Given the description of an element on the screen output the (x, y) to click on. 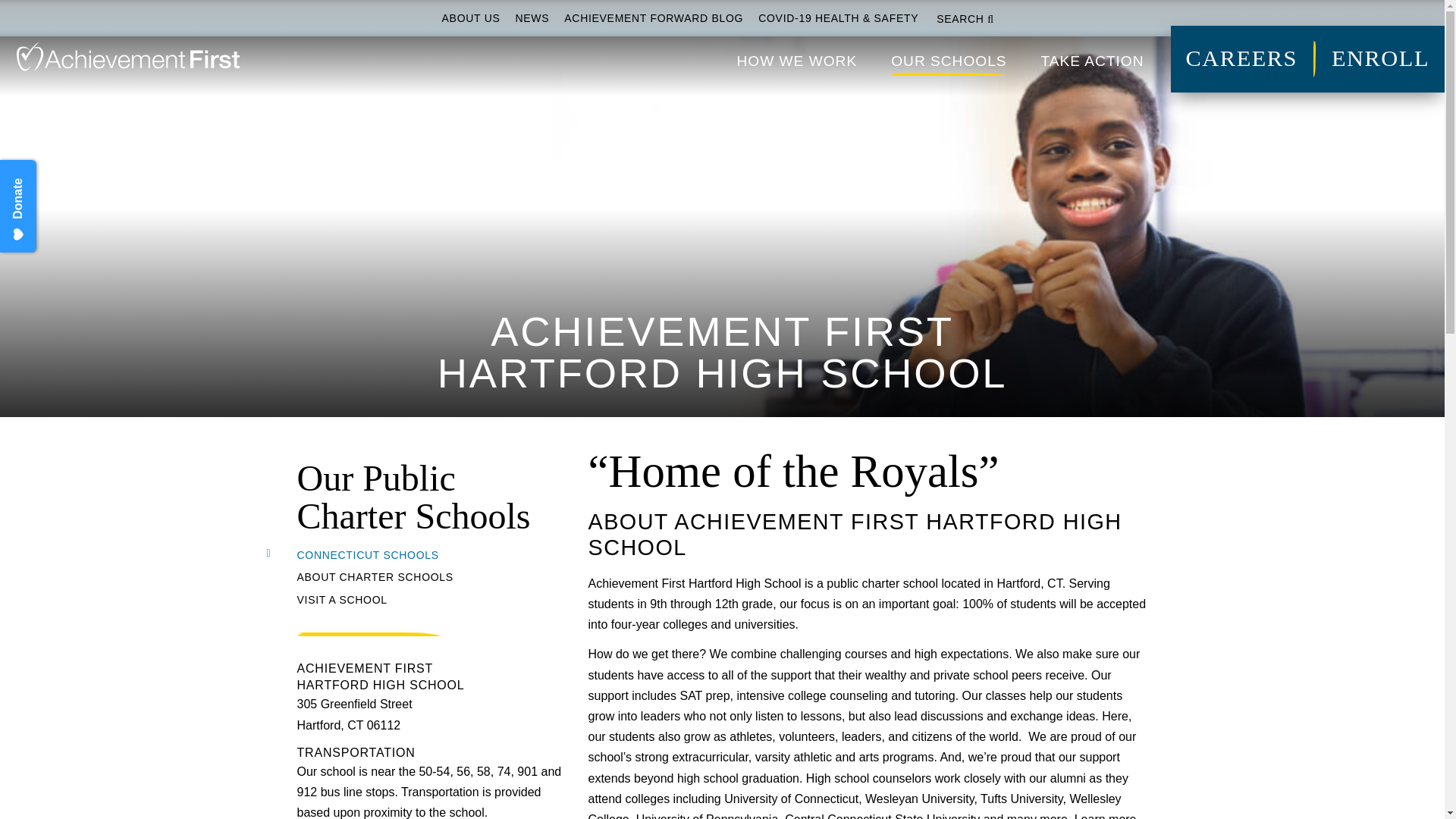
NEWS (532, 18)
OUR SCHOOLS (949, 56)
ACHIEVEMENT FORWARD BLOG (653, 18)
TAKE ACTION (1092, 56)
Persistent Donate Button (48, 178)
HOW WE WORK (796, 56)
ABOUT US (470, 18)
CAREERS (1241, 58)
